Given the description of an element on the screen output the (x, y) to click on. 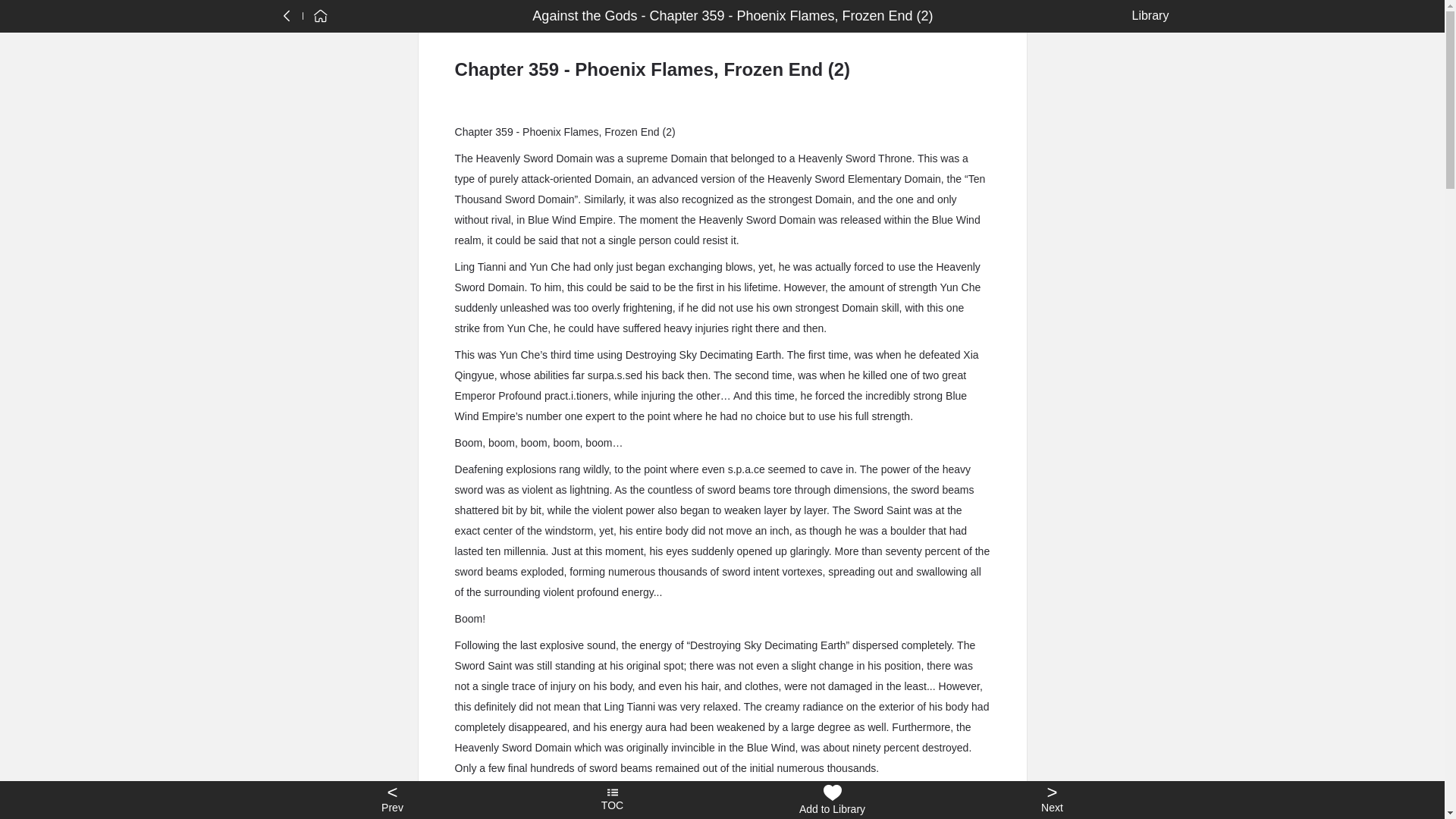
TOC (612, 800)
Library (1146, 15)
Add to Library (832, 800)
